Given the description of an element on the screen output the (x, y) to click on. 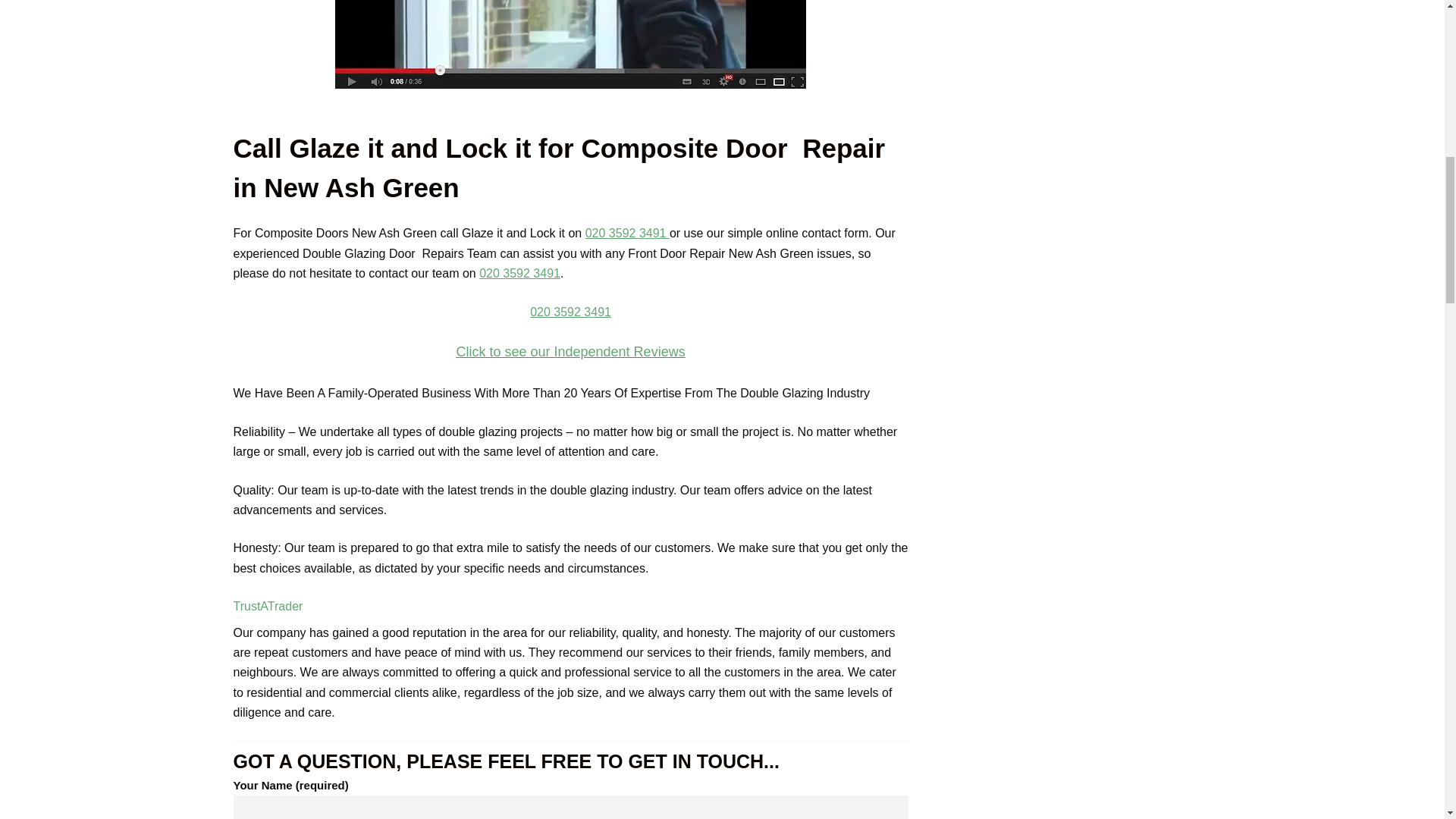
best (569, 351)
TrustATrader (267, 605)
020 3592 3491 (625, 232)
reviews (570, 310)
composite front door New Ash Green (570, 44)
Double Glazing Door Repair (570, 44)
020 3592 3491 (570, 311)
Click to see our Independent Reviews (569, 351)
020 3592 3491 (519, 273)
